Given the description of an element on the screen output the (x, y) to click on. 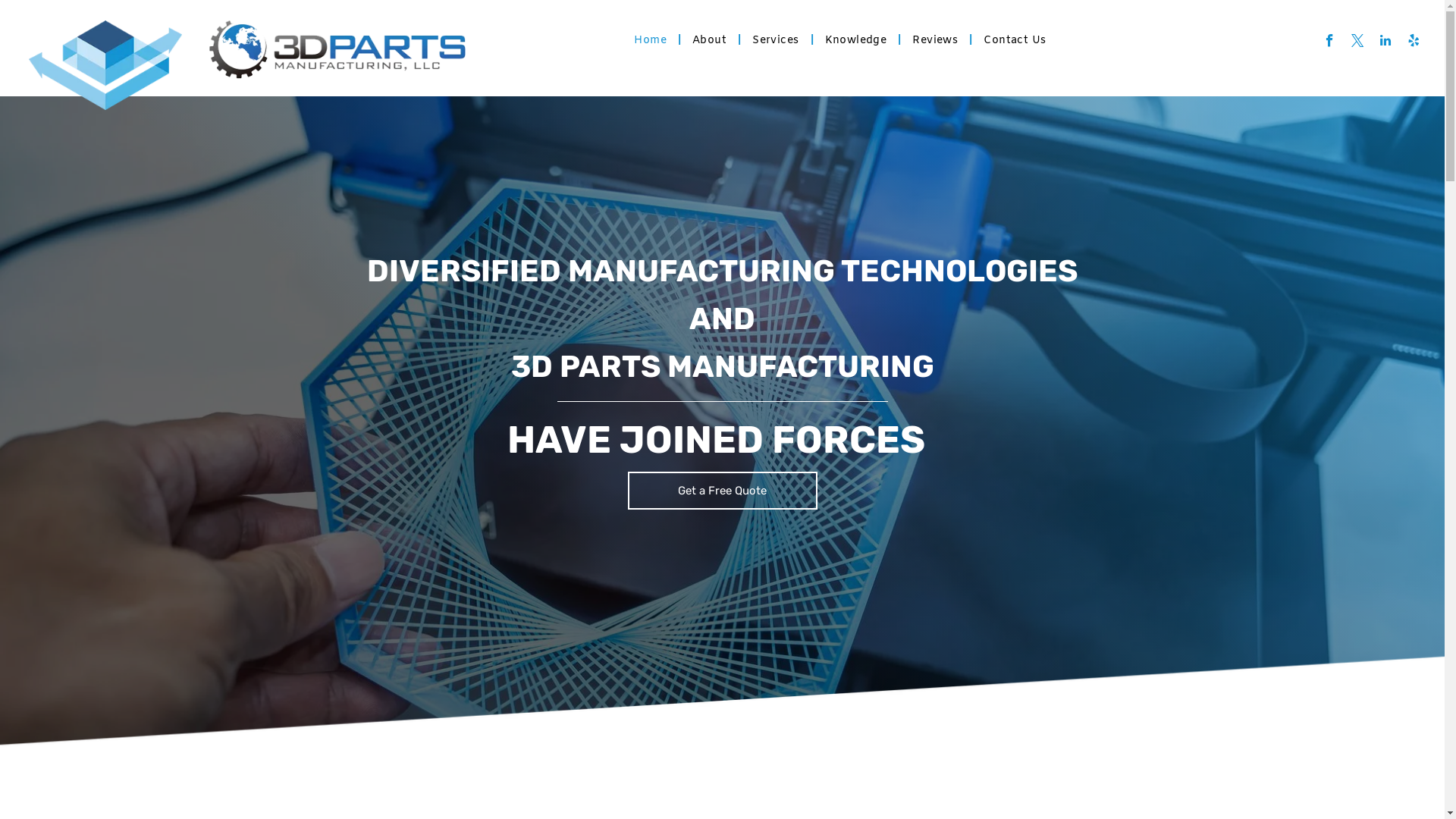
Knowledge Element type: text (855, 40)
About Element type: text (708, 40)
Get a Free Quote Element type: text (722, 490)
Contact Us Element type: text (1014, 40)
Reviews Element type: text (934, 40)
3D Parts Manufacturing , LLC Element type: hover (336, 49)
Diversified Manufacturing Technologies Element type: hover (105, 64)
Home Element type: text (649, 40)
Services Element type: text (774, 40)
